Given the description of an element on the screen output the (x, y) to click on. 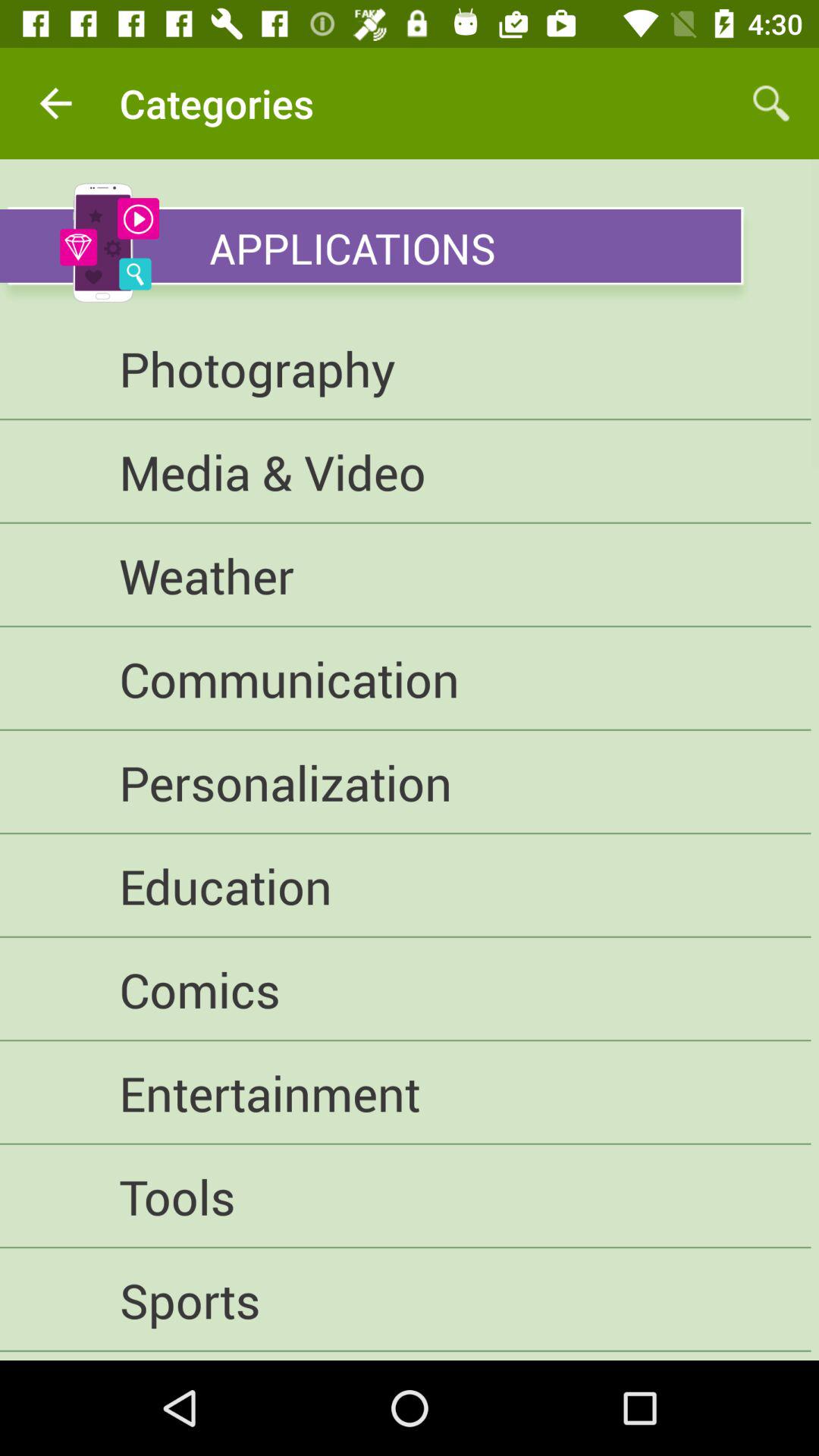
press the icon next to the applications icon (109, 242)
